Given the description of an element on the screen output the (x, y) to click on. 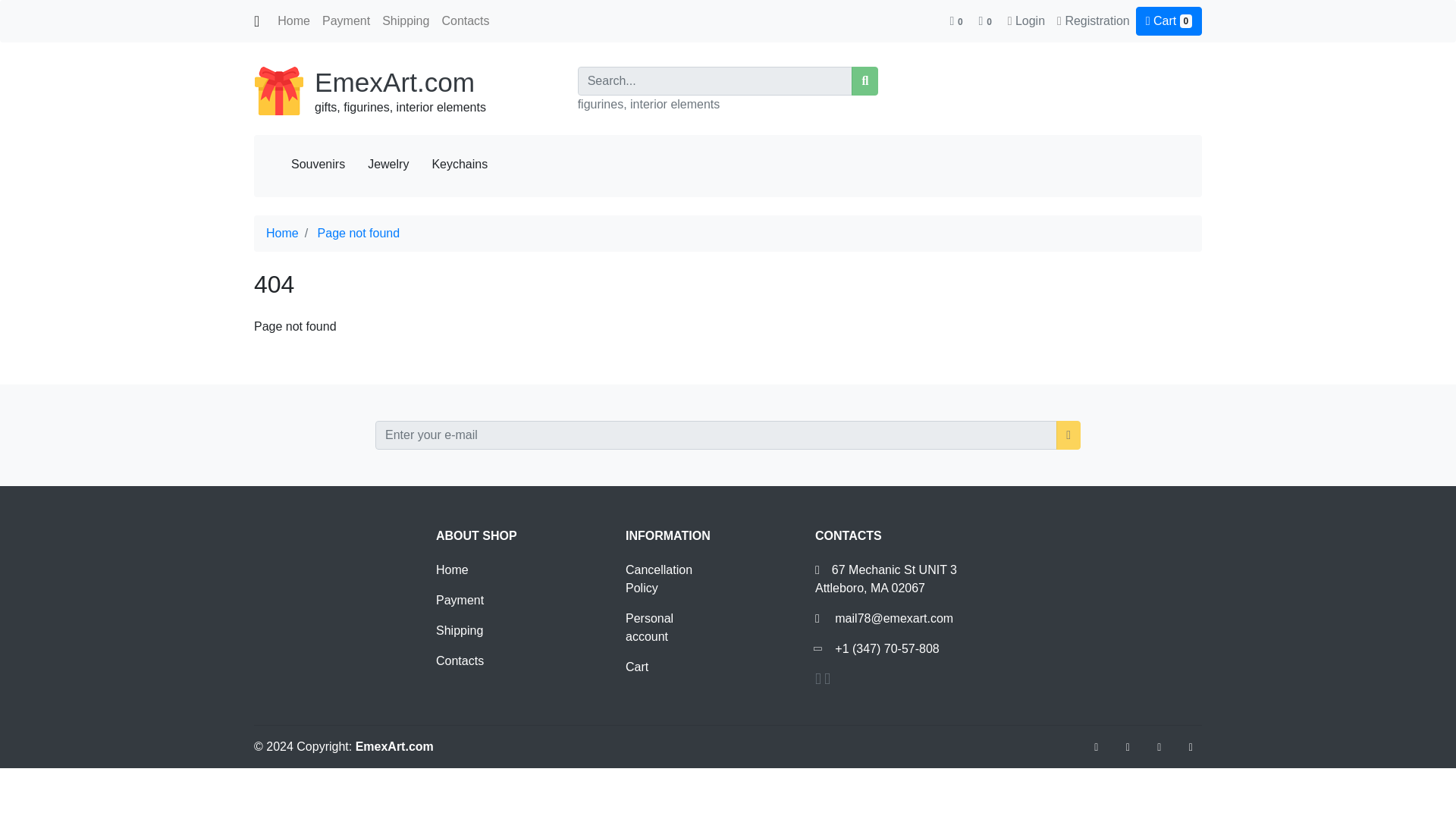
Home (292, 20)
Login (1029, 20)
Contacts (459, 660)
0 (957, 20)
Cancellation Policy (659, 578)
Shipping (405, 20)
Home (282, 232)
Payment (459, 599)
EmexArt.com (394, 82)
Souvenirs (318, 164)
